Given the description of an element on the screen output the (x, y) to click on. 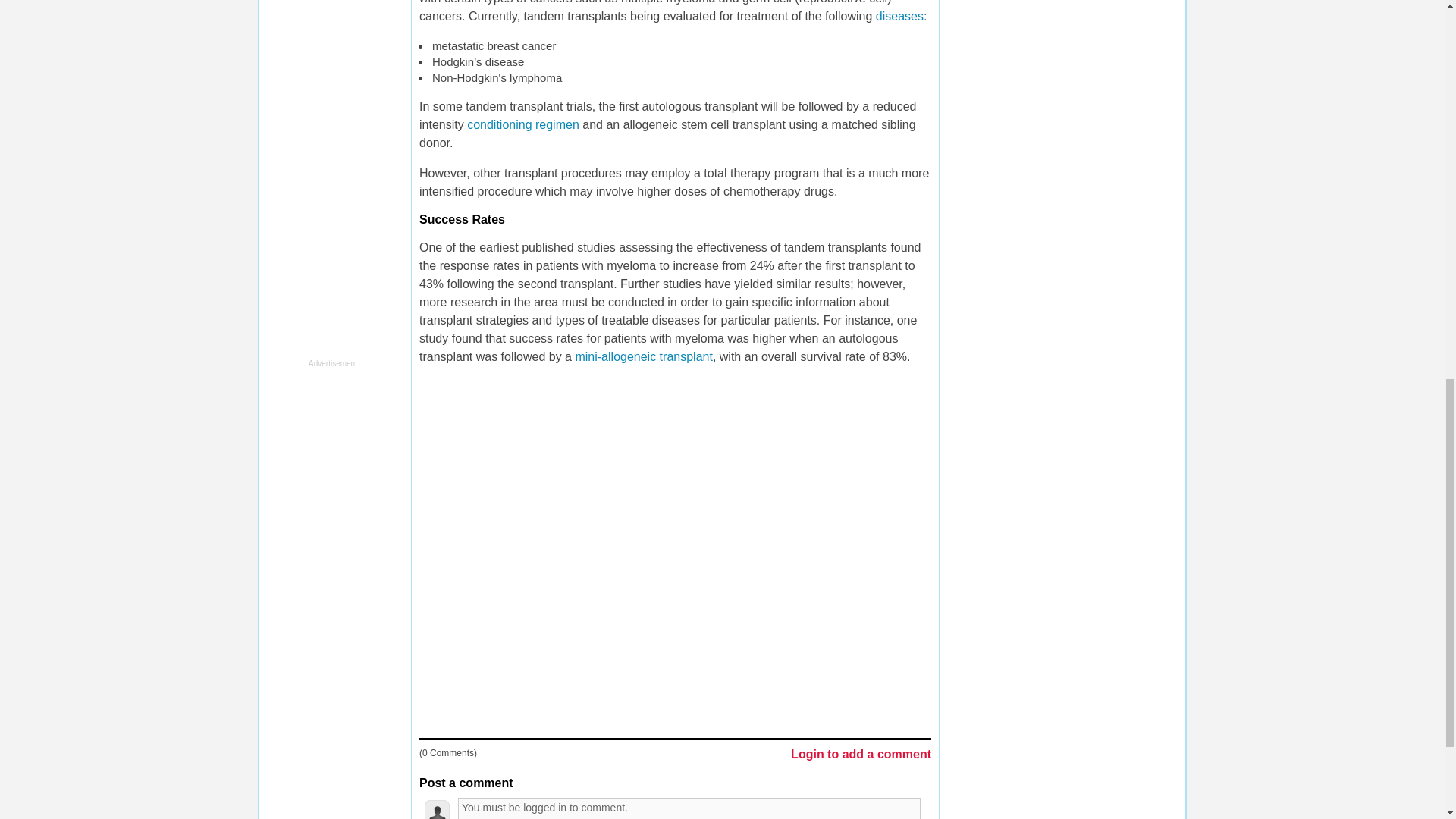
conditioning regimen (523, 124)
3rd party ad content (324, 171)
mini-allogeneic transplant (643, 356)
Login to add a comment (860, 755)
diseases (899, 15)
